Given the description of an element on the screen output the (x, y) to click on. 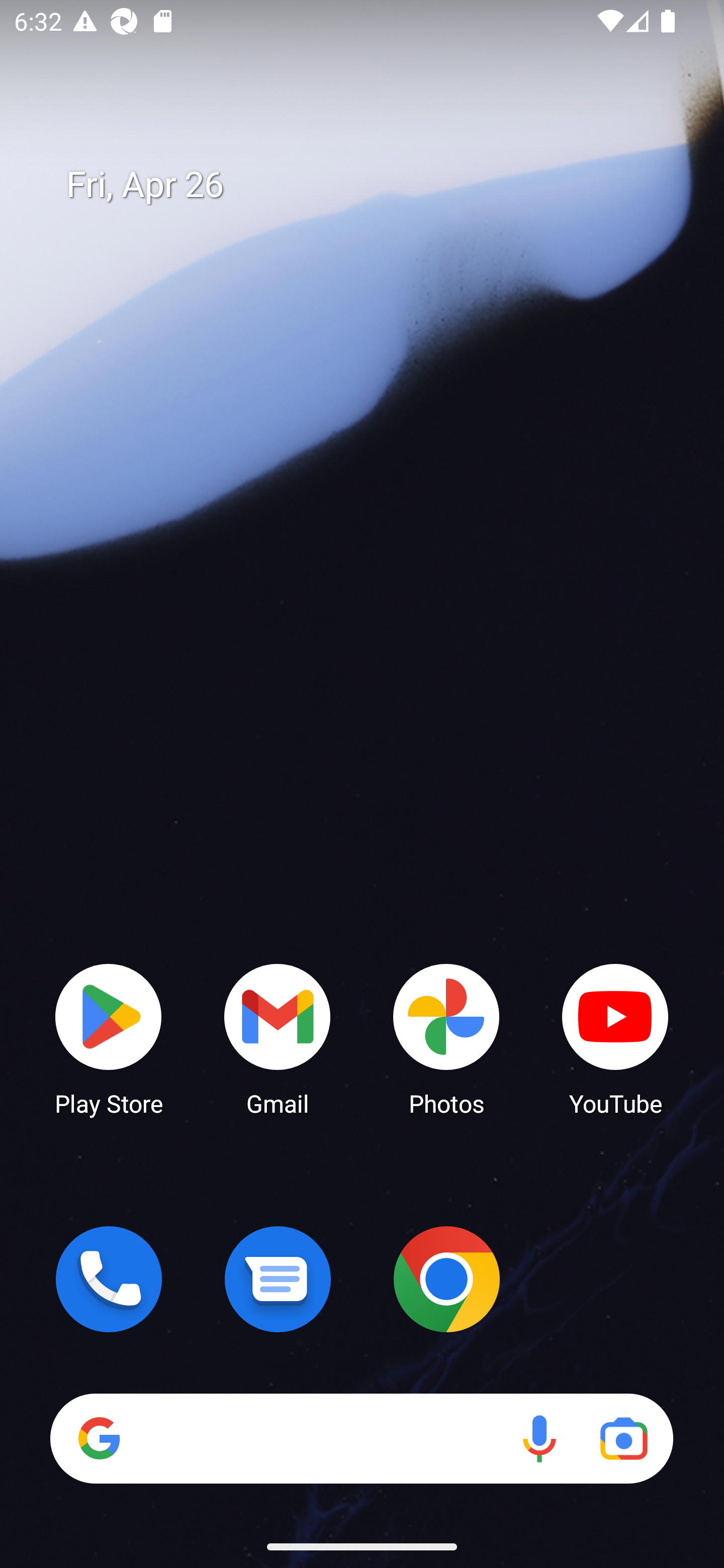
Fri, Apr 26 (375, 184)
Play Store (108, 1038)
Gmail (277, 1038)
Photos (445, 1038)
YouTube (615, 1038)
Phone (108, 1279)
Messages (277, 1279)
Chrome (446, 1279)
Search Voice search Google Lens (361, 1438)
Voice search (539, 1438)
Google Lens (623, 1438)
